Given the description of an element on the screen output the (x, y) to click on. 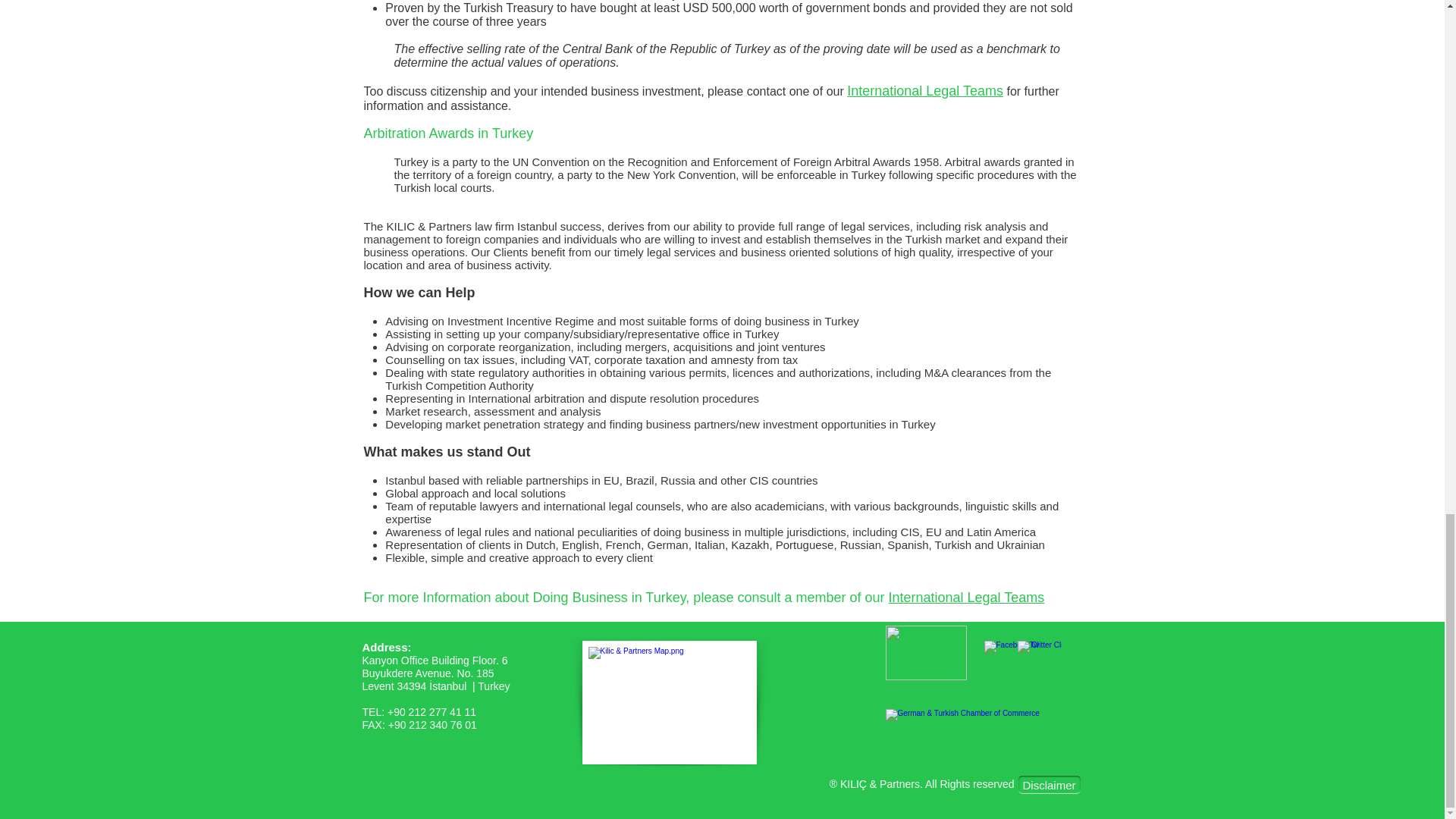
Follow Us  (925, 652)
International Legal Teams (966, 597)
International Legal Teams (925, 91)
Disclaimer (1048, 784)
